Given the description of an element on the screen output the (x, y) to click on. 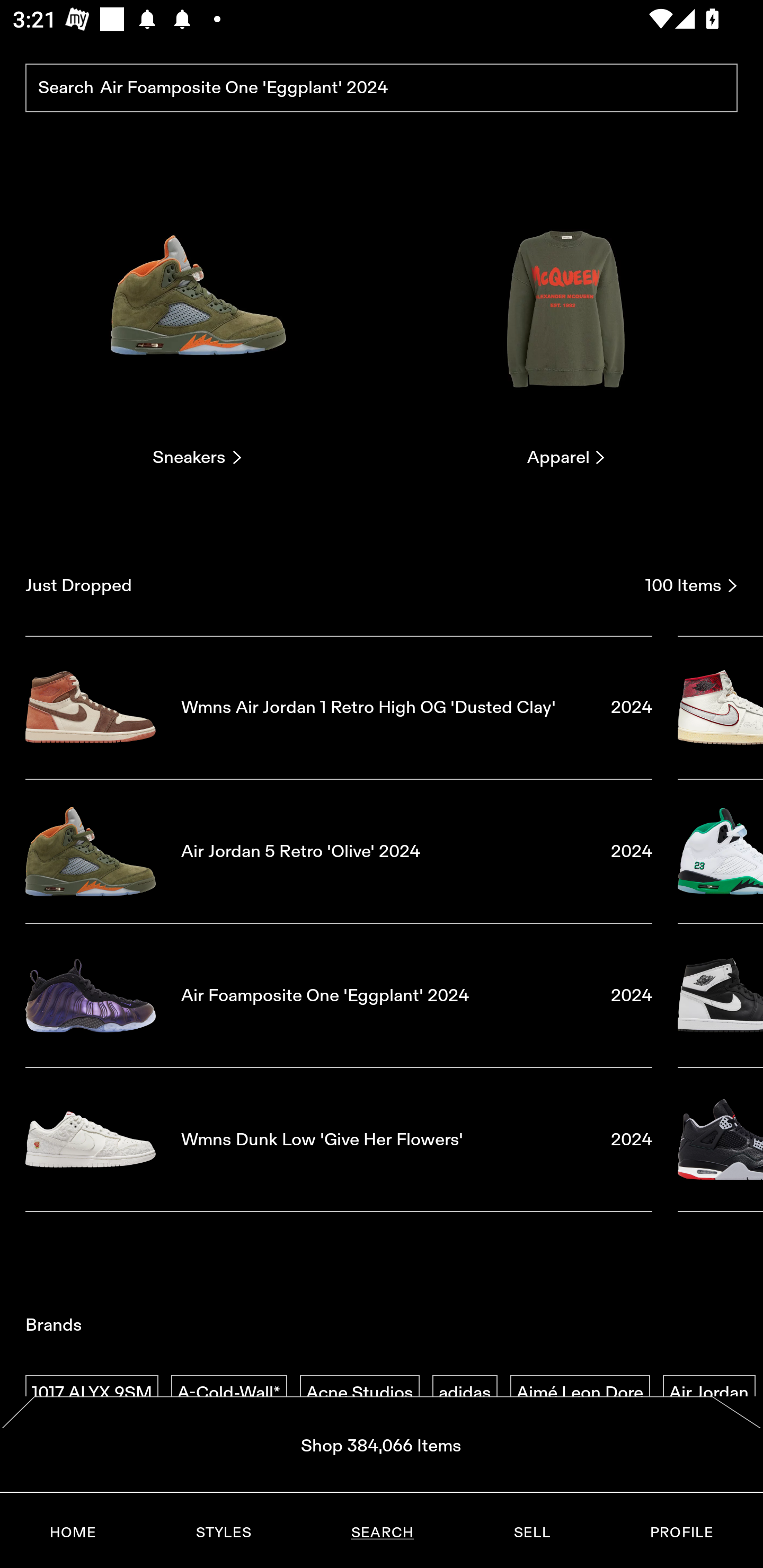
Search (381, 88)
Sneakers (196, 323)
Apparel (565, 323)
Just Dropped (328, 585)
100 Items (691, 585)
Wmns Air Jordan 1 Retro High OG 'Dusted Clay' 2024 (338, 707)
Air Jordan 5 Retro 'Olive' 2024 2024 (338, 851)
Air Foamposite One 'Eggplant' 2024 2024 (338, 995)
Wmns Dunk Low 'Give Her Flowers' 2024 (338, 1139)
1017 ALYX 9SM (91, 1393)
A-Cold-Wall* (228, 1393)
Acne Studios (359, 1393)
adidas (464, 1393)
Aimé Leon Dore (580, 1393)
Air Jordan (709, 1393)
HOME (72, 1532)
STYLES (222, 1532)
SEARCH (381, 1532)
SELL (531, 1532)
PROFILE (681, 1532)
